Given the description of an element on the screen output the (x, y) to click on. 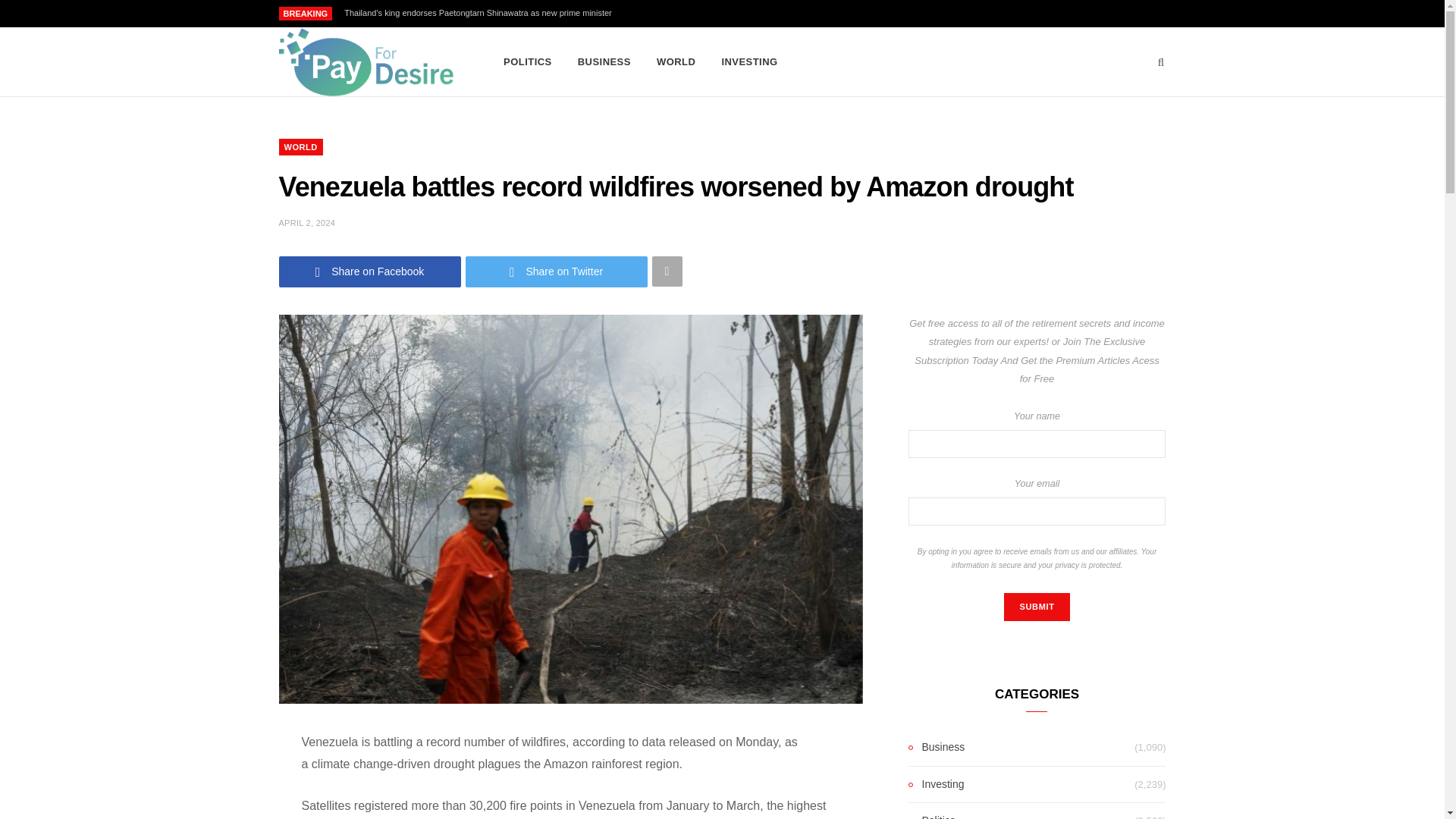
WORLD (675, 61)
Share on Twitter (556, 271)
APRIL 2, 2024 (307, 222)
POLITICS (527, 61)
INVESTING (749, 61)
Share on Facebook (370, 271)
BUSINESS (604, 61)
Pay For Desire (366, 61)
Share on Facebook (370, 271)
Share on Twitter (556, 271)
